Given the description of an element on the screen output the (x, y) to click on. 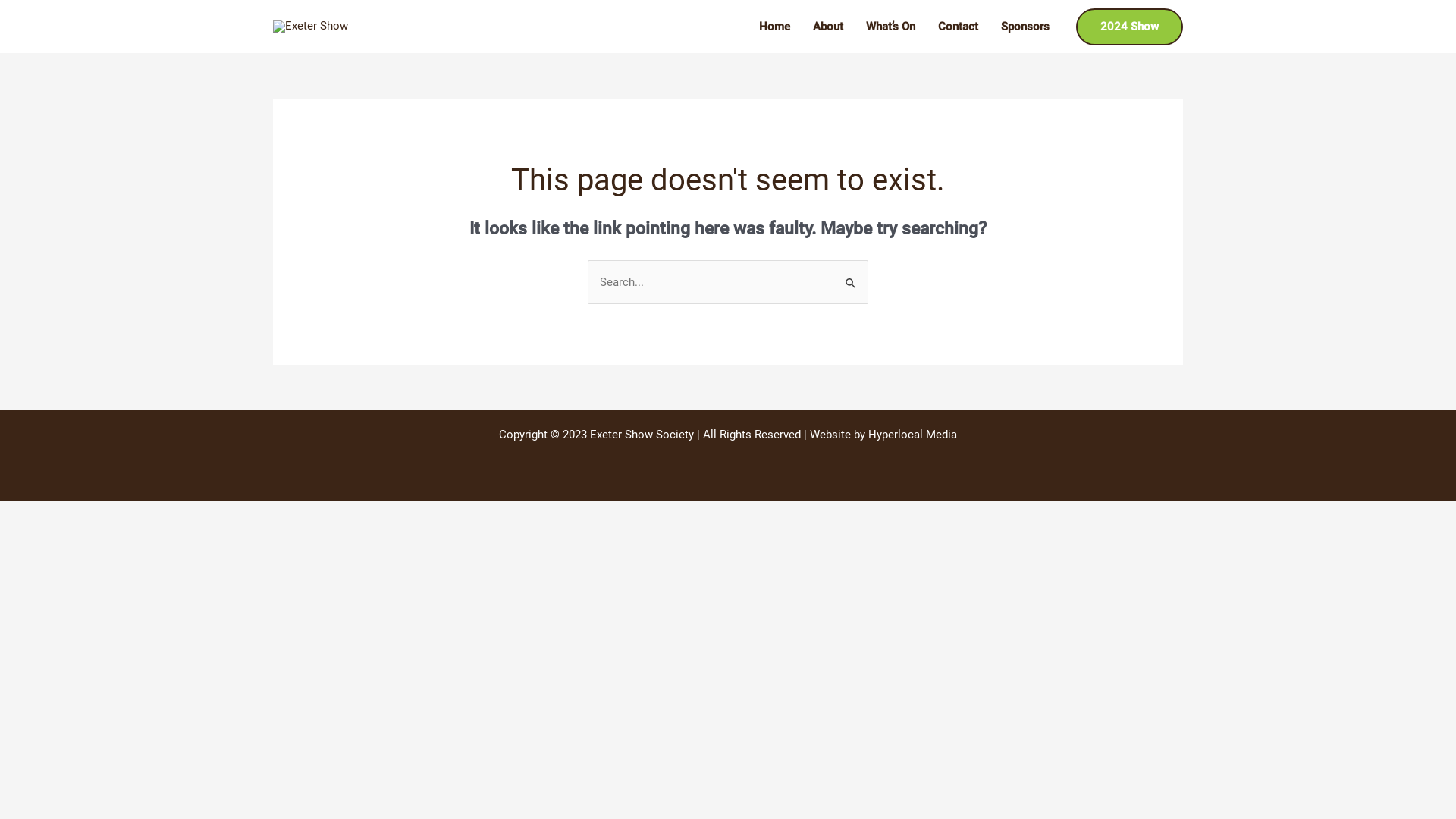
Home Element type: text (774, 26)
About Element type: text (827, 26)
Search Element type: text (851, 275)
Hyperlocal Media Element type: text (912, 434)
2024 Show Element type: text (1129, 25)
Sponsors Element type: text (1024, 26)
Contact Element type: text (957, 26)
